Given the description of an element on the screen output the (x, y) to click on. 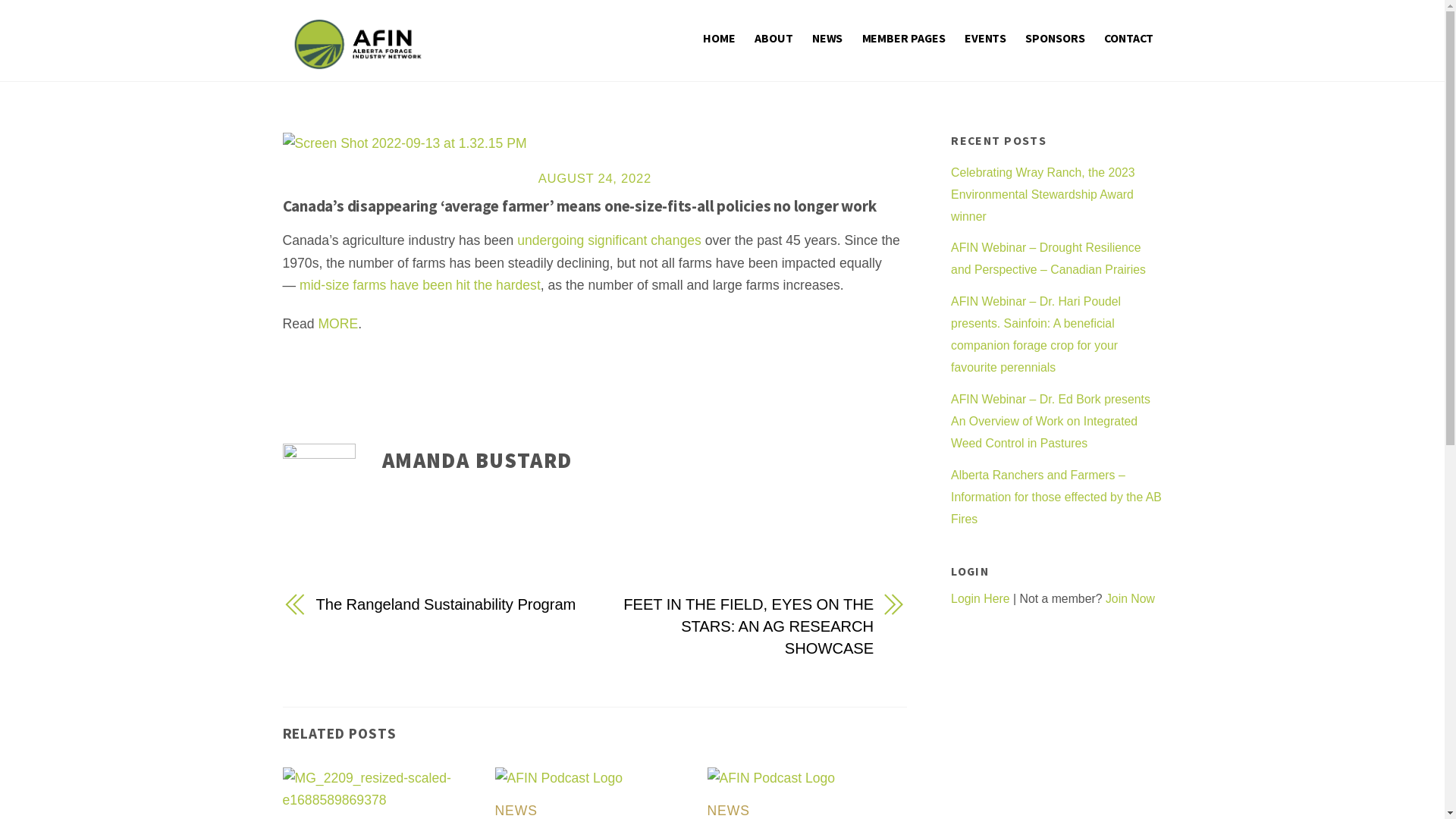
MORE Element type: text (337, 323)
MG_2209_resized-scaled-e1688589869378 Element type: hover (382, 789)
MEMBER PAGES Element type: text (903, 37)
NEWS Element type: text (728, 810)
Alberta Forage Industry Network Element type: hover (357, 60)
Screen Shot 2022-09-13 at 1.32.15 PM Element type: hover (404, 143)
AFIN Podcast Logo Element type: hover (771, 778)
SPONSORS Element type: text (1054, 37)
mid-size farms have been hit the hardest Element type: text (419, 284)
NEWS Element type: text (516, 810)
AFIN Podcast Logo Element type: hover (559, 778)
HOME Element type: text (718, 37)
Login Here Element type: text (979, 598)
EVENTS Element type: text (985, 37)
NEWS Element type: text (827, 37)
undergoing significant changes Element type: text (609, 239)
ABOUT Element type: text (773, 37)
CONTACT Element type: text (1128, 37)
Join Now Element type: text (1129, 598)
Site_Logo Element type: hover (357, 44)
The Rangeland Sustainability Program Element type: text (445, 604)
